Given the description of an element on the screen output the (x, y) to click on. 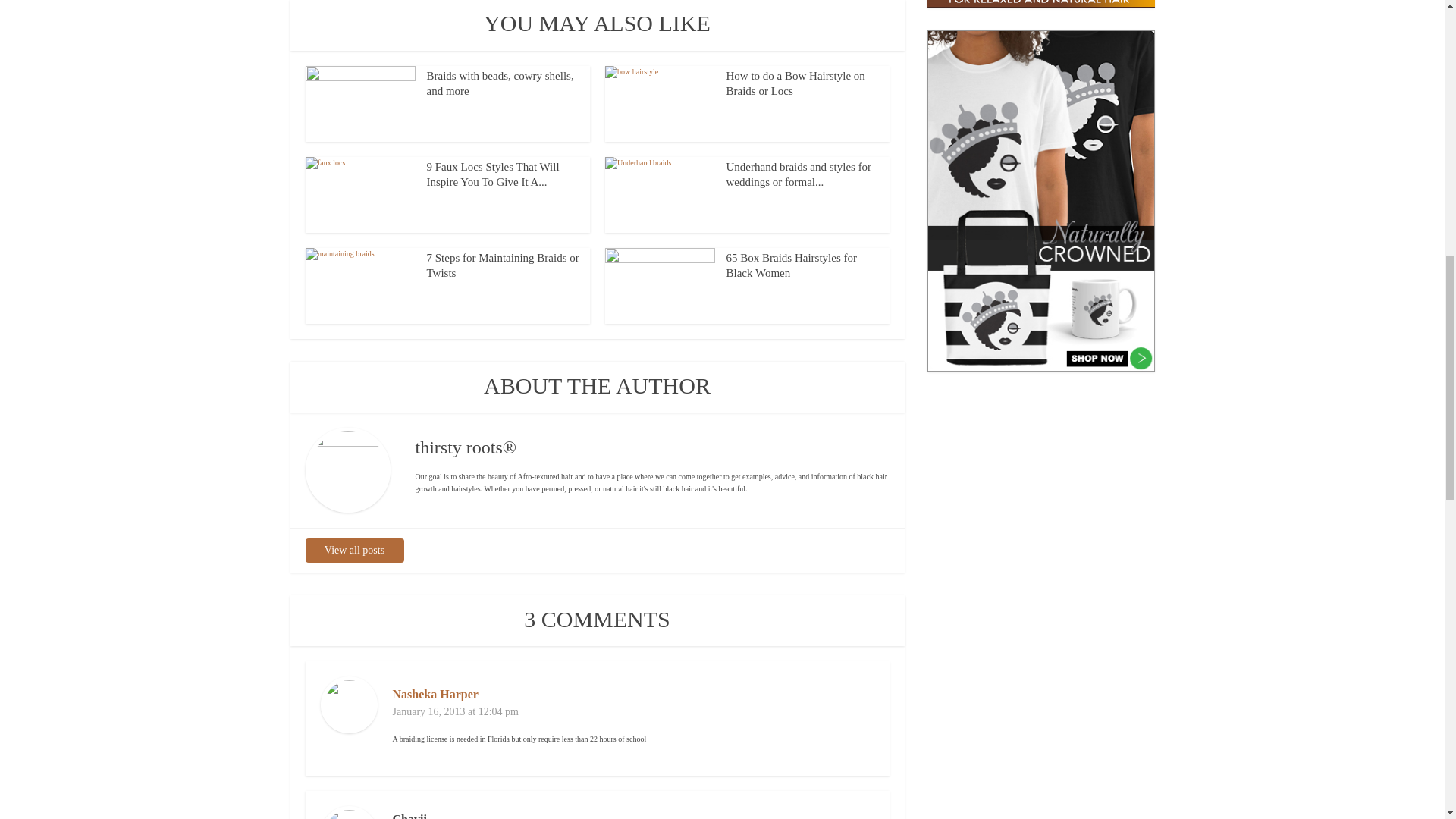
65 Box Braids Hairstyles for Black Women (791, 265)
How to do a Bow Hairstyle on Braids or Locs (795, 83)
7 Steps for Maintaining Braids or Twists (502, 265)
9 Faux Locs Styles That Will Inspire You To Give It A Try (492, 174)
Underhand braids and styles for weddings or formal events (799, 174)
Braids with beads, cowry shells, and more (499, 83)
